Given the description of an element on the screen output the (x, y) to click on. 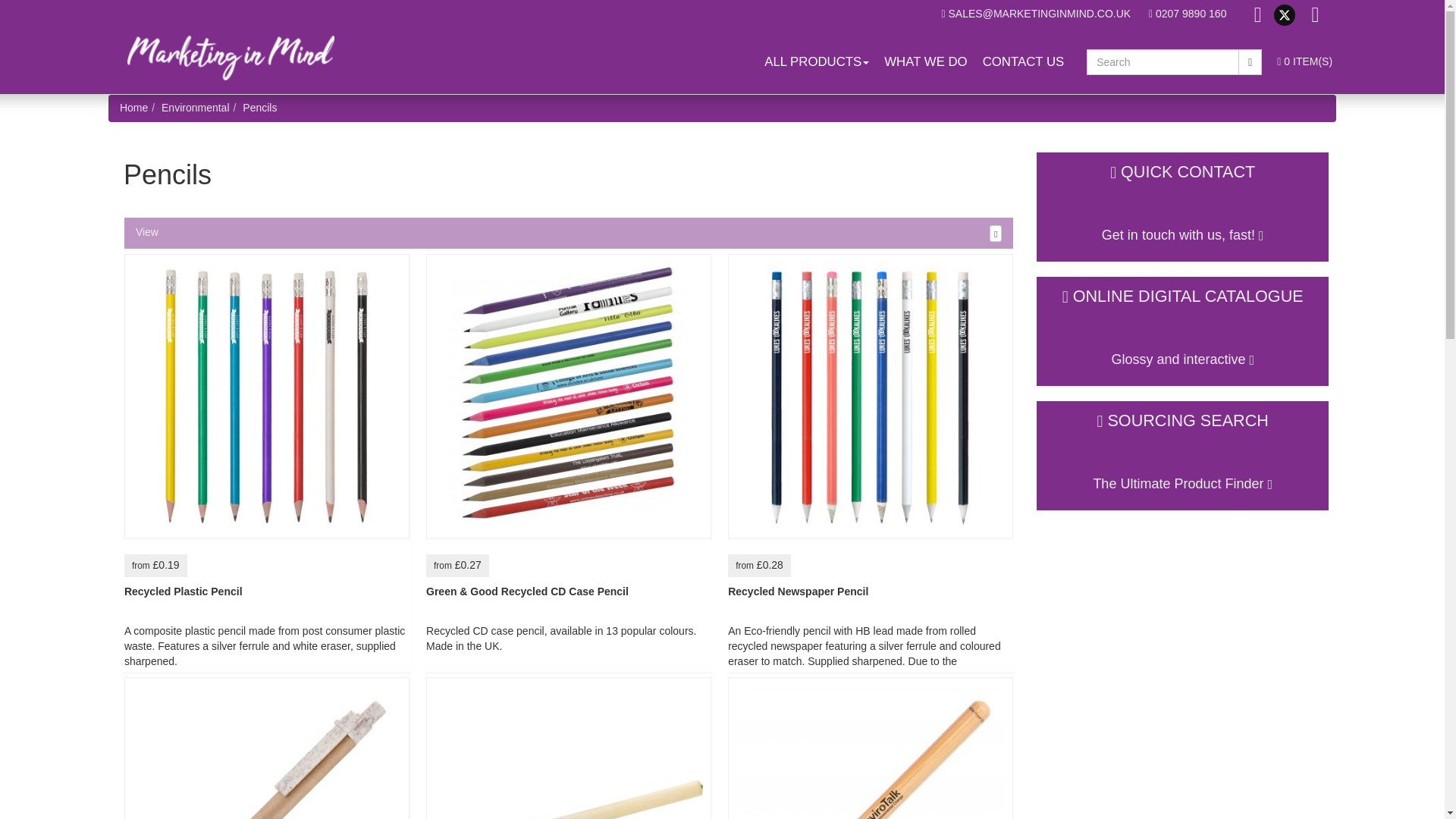
ALL PRODUCTS (816, 62)
CONTACT US (1023, 62)
0207 9890 160 (1186, 13)
WHAT WE DO (925, 62)
